Given the description of an element on the screen output the (x, y) to click on. 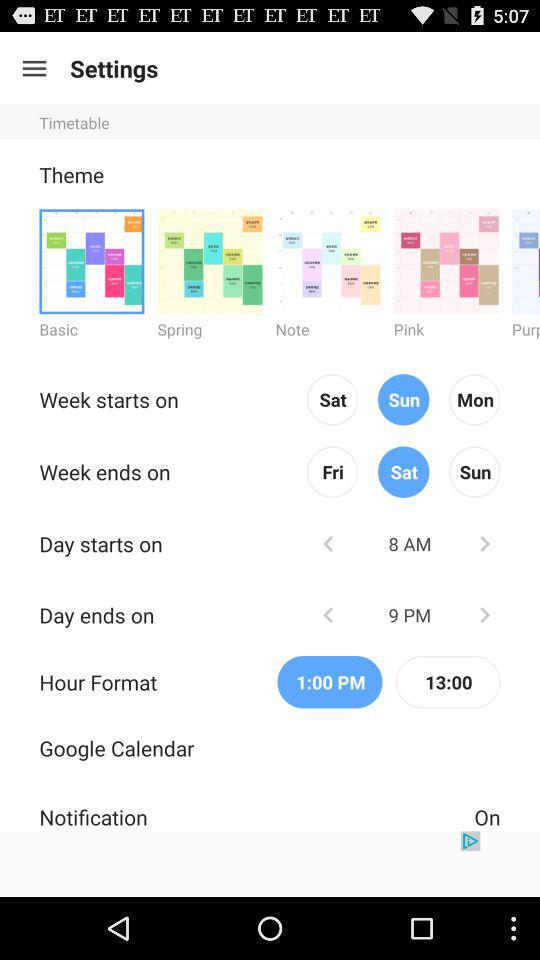
description (270, 864)
